Given the description of an element on the screen output the (x, y) to click on. 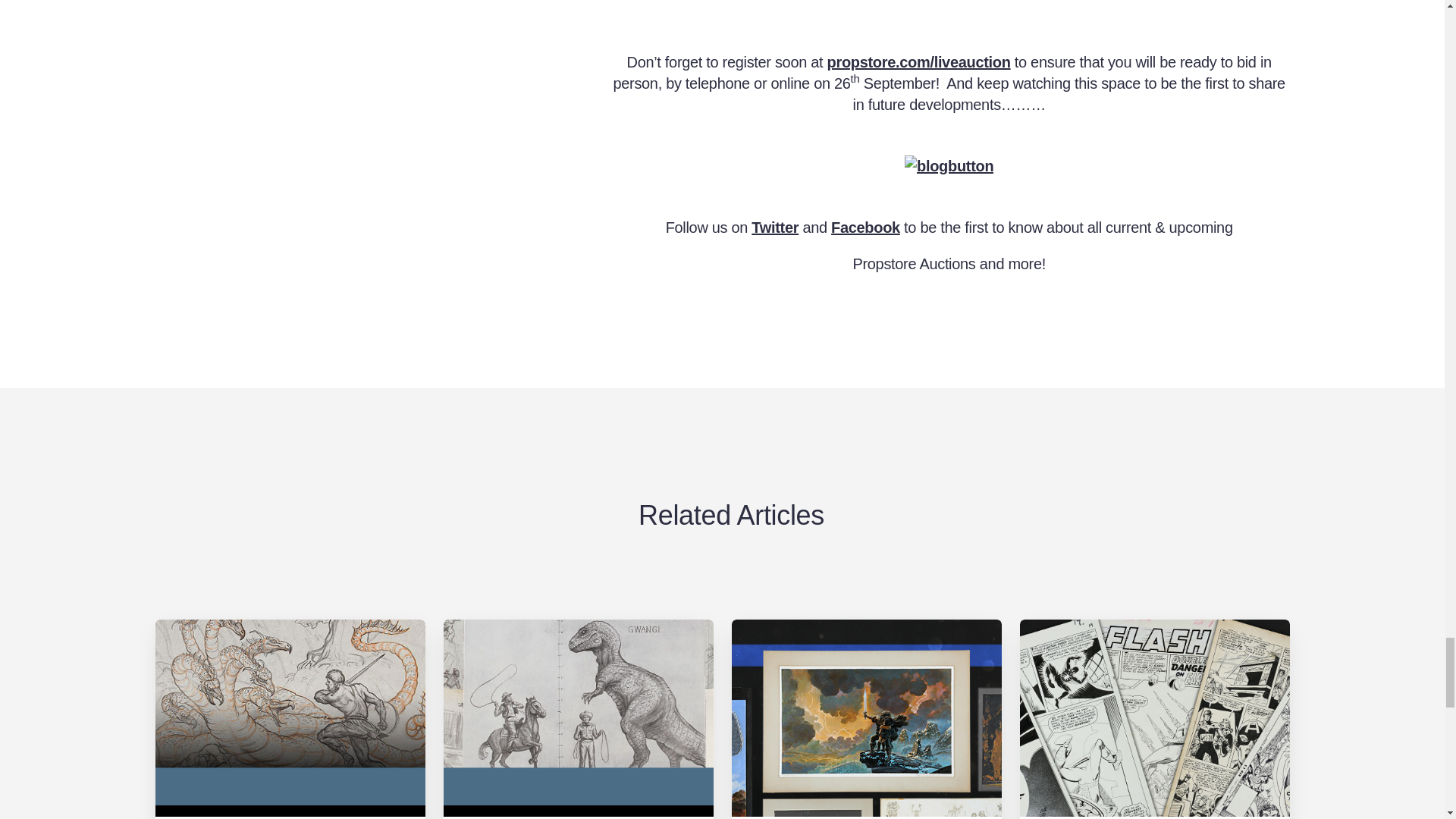
10 Things You Need To Know About Ron Cobb (865, 719)
